Given the description of an element on the screen output the (x, y) to click on. 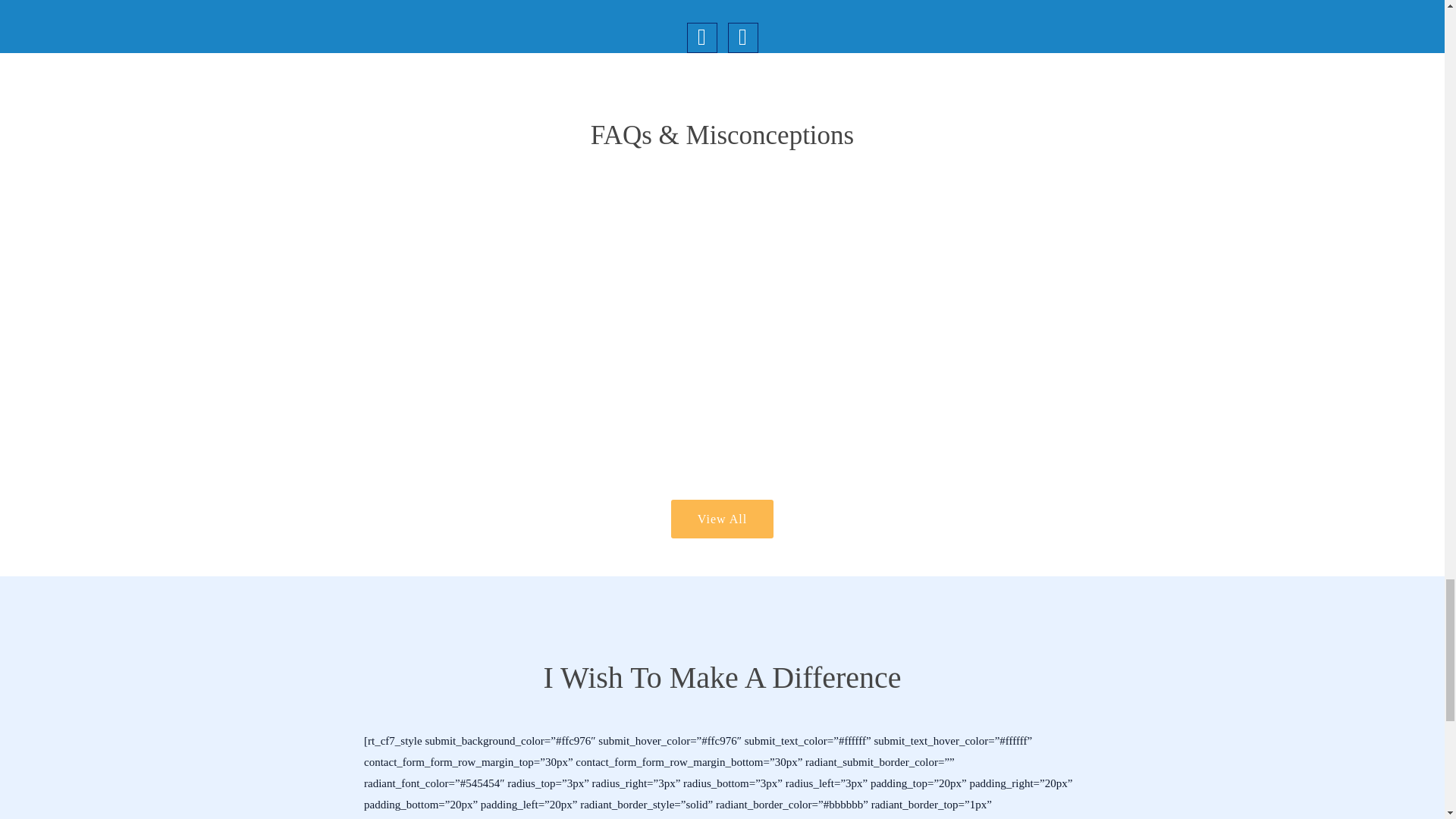
Misconceptions (722, 518)
